Given the description of an element on the screen output the (x, y) to click on. 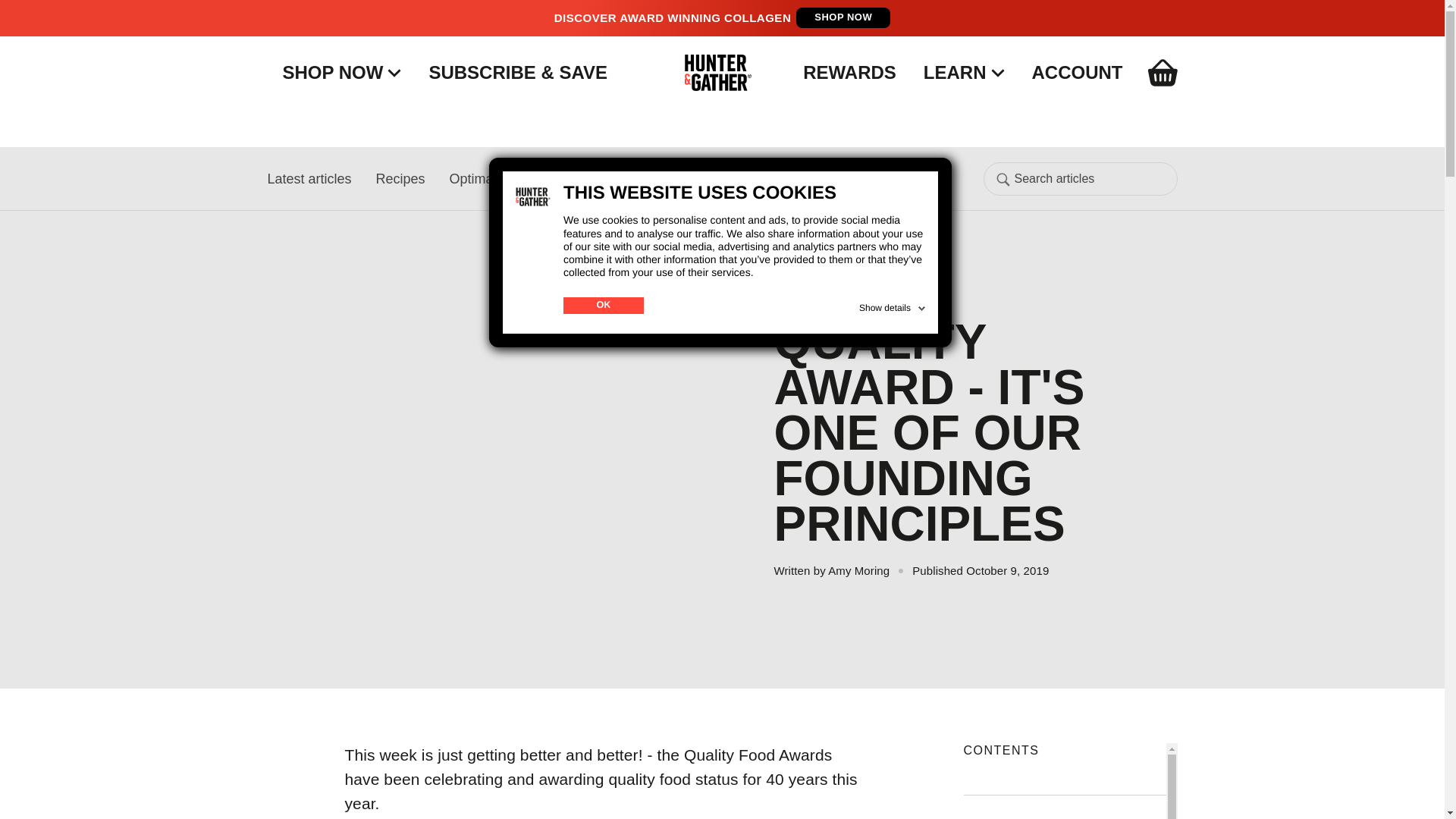
Show details (893, 305)
Recipes (400, 178)
OK (603, 305)
Latest articles (308, 178)
Pillar Articles (669, 178)
